Given the description of an element on the screen output the (x, y) to click on. 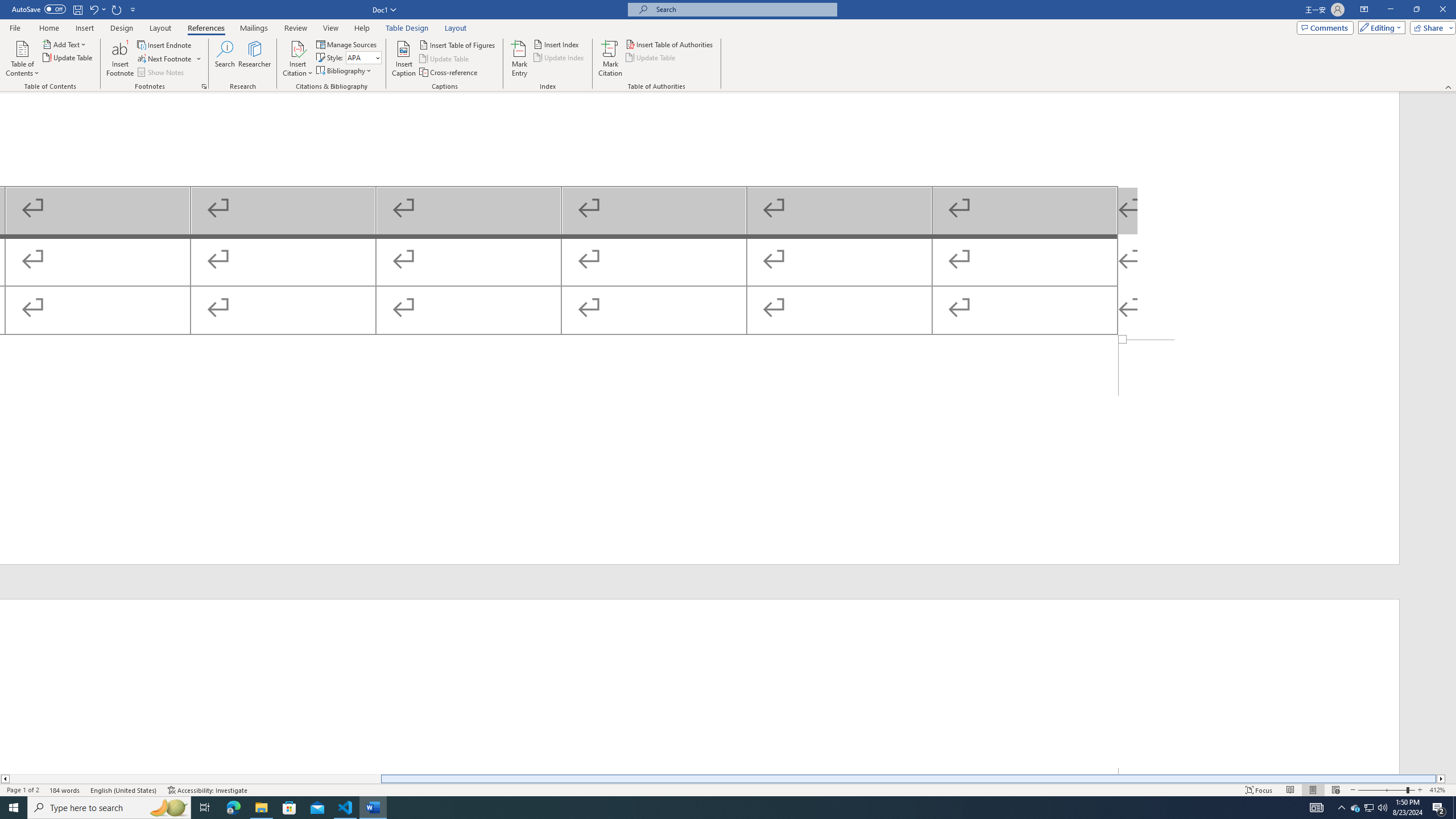
Editing (1379, 27)
Footer -Section 1- (699, 452)
Table Design (407, 28)
Style (360, 57)
Page Number Page 1 of 2 (22, 790)
Bibliography (344, 69)
Insert Table of Figures... (458, 44)
Class: MsoCommandBar (728, 789)
Update Table... (68, 56)
